Given the description of an element on the screen output the (x, y) to click on. 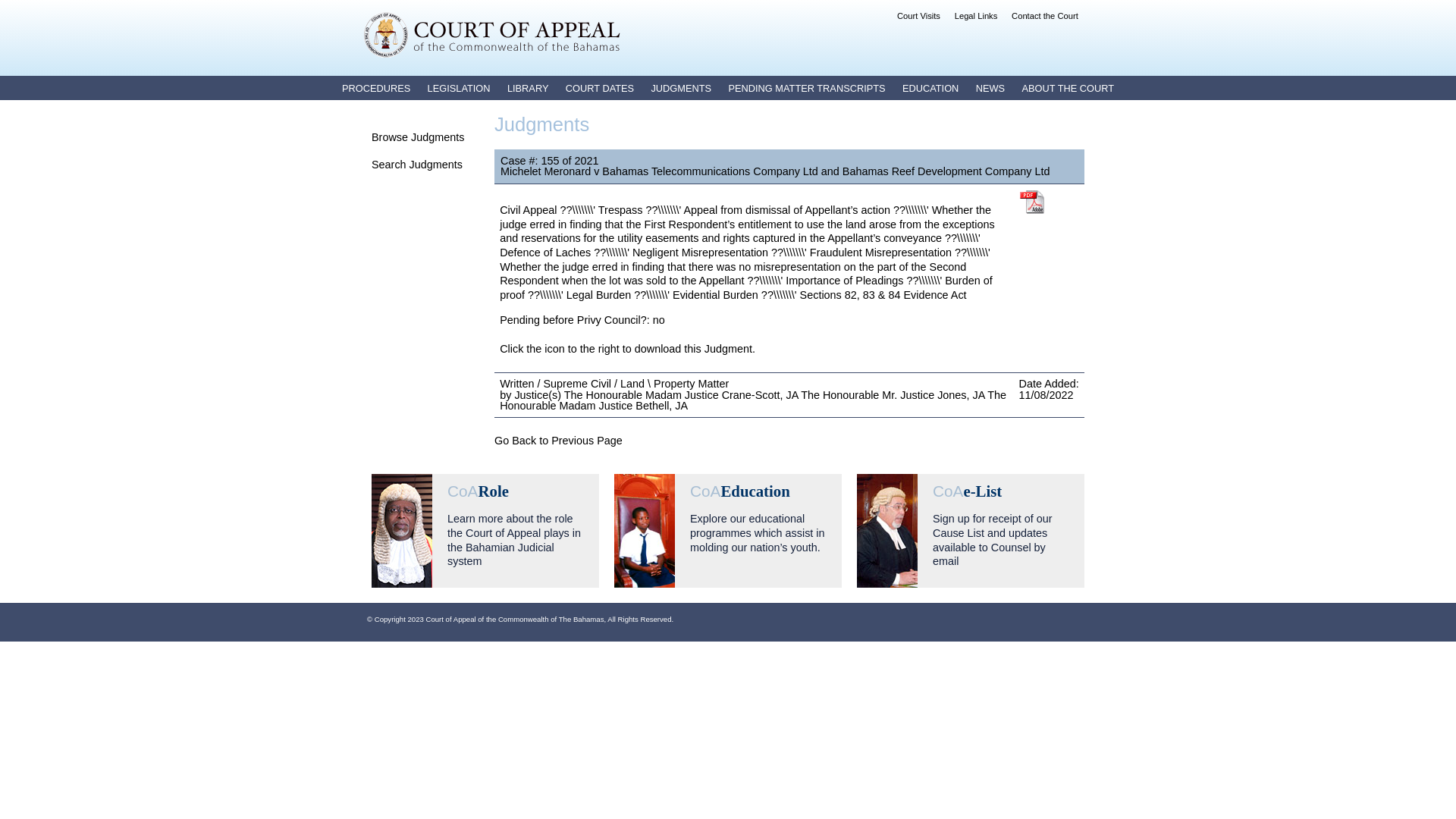
LIBRARY Element type: text (528, 88)
Browse Judgments Element type: text (417, 137)
ABOUT THE COURT Element type: text (1068, 88)
Sign up now Element type: text (970, 530)
PROCEDURES Element type: text (376, 88)
Court Visits Element type: text (918, 15)
EDUCATION Element type: text (930, 88)
Search Judgments Element type: text (416, 164)
NEWS Element type: text (989, 88)
PENDING MATTER TRANSCRIPTS Element type: text (806, 88)
Return to Main Page Element type: text (492, 34)
COURT DATES Element type: text (599, 88)
Go Back to Previous Page Element type: text (558, 440)
Contact the Court Element type: text (1044, 15)
LEGISLATION Element type: text (458, 88)
JUDGMENTS Element type: text (680, 88)
About the Court of Appeal Element type: text (485, 530)
Find out about our educational programs Element type: text (727, 530)
Legal Links Element type: text (975, 15)
